Given the description of an element on the screen output the (x, y) to click on. 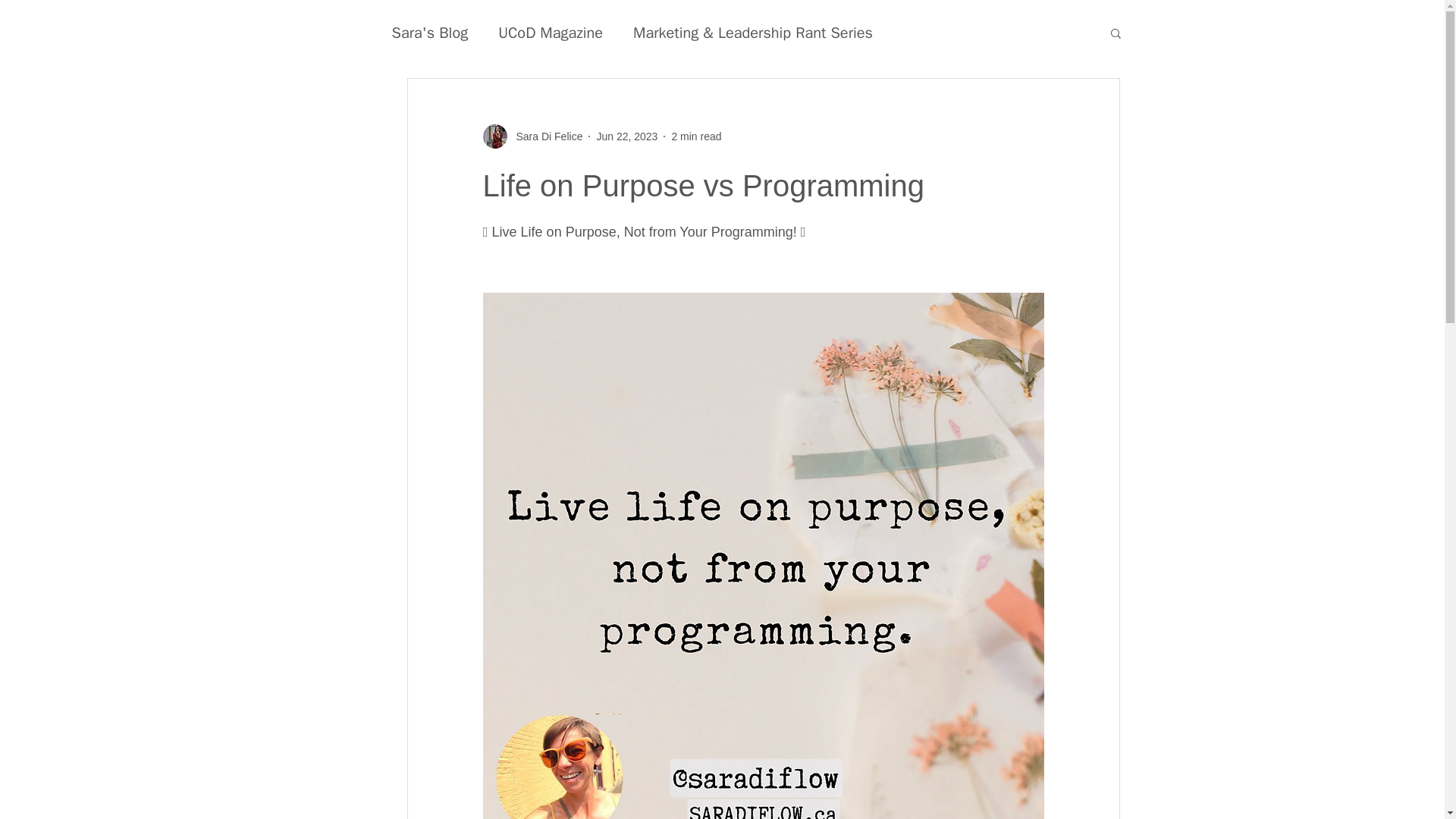
2 min read (695, 136)
Sara's Blog (429, 32)
Sara Di Felice (544, 136)
Sara Di Felice (531, 136)
Jun 22, 2023 (626, 136)
UCoD Magazine (549, 32)
